Given the description of an element on the screen output the (x, y) to click on. 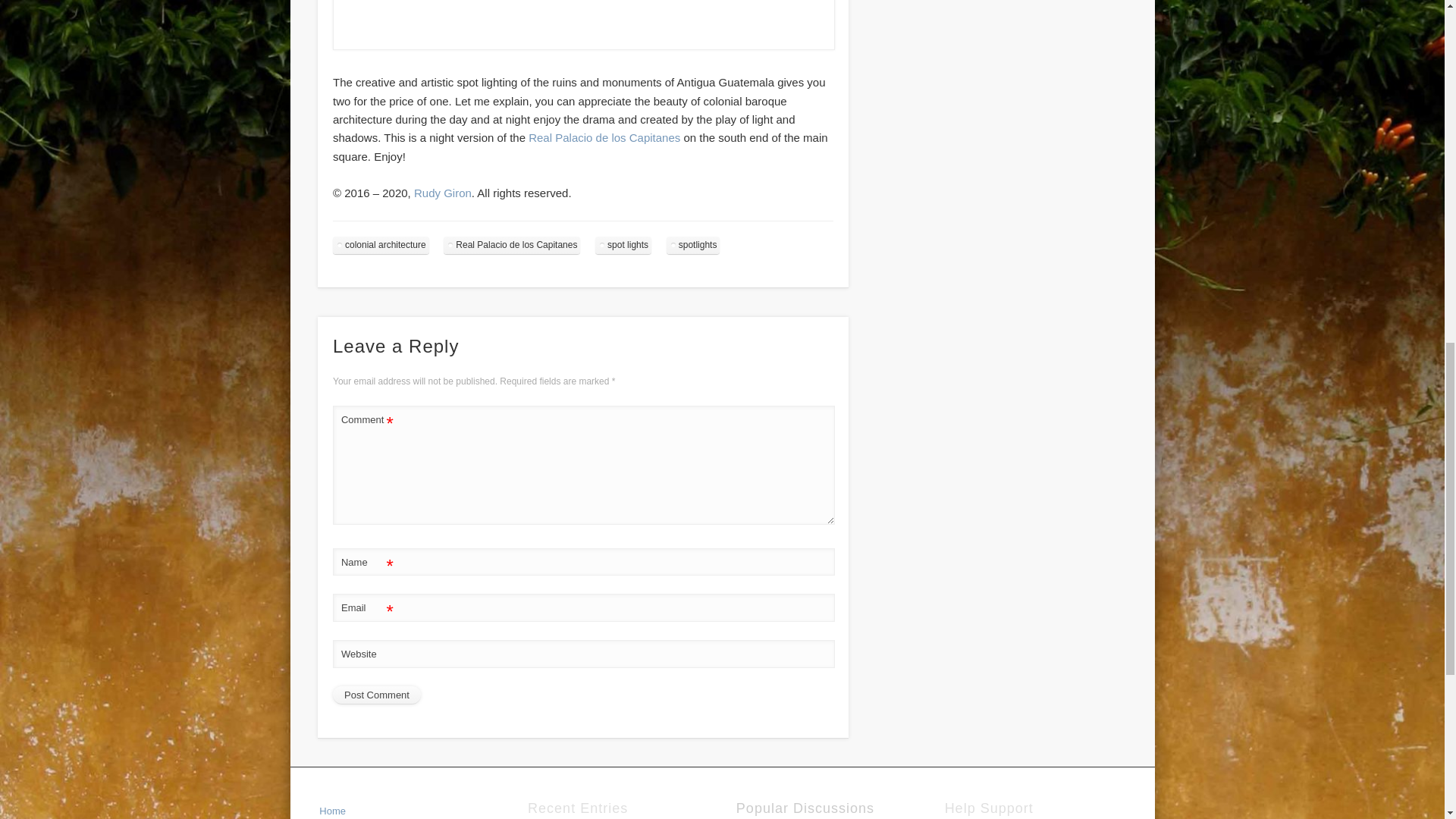
Spot lighting of ruins and monuments in Antigua Guatemala (583, 45)
spotlights (693, 244)
colonial architecture (381, 244)
spot lights (622, 244)
Post Comment (376, 695)
Real Palacio de los Capitanes (511, 244)
Rudy Giron (442, 192)
Home (332, 810)
Real Palacio de los Capitanes (603, 137)
Post Comment (376, 695)
